Given the description of an element on the screen output the (x, y) to click on. 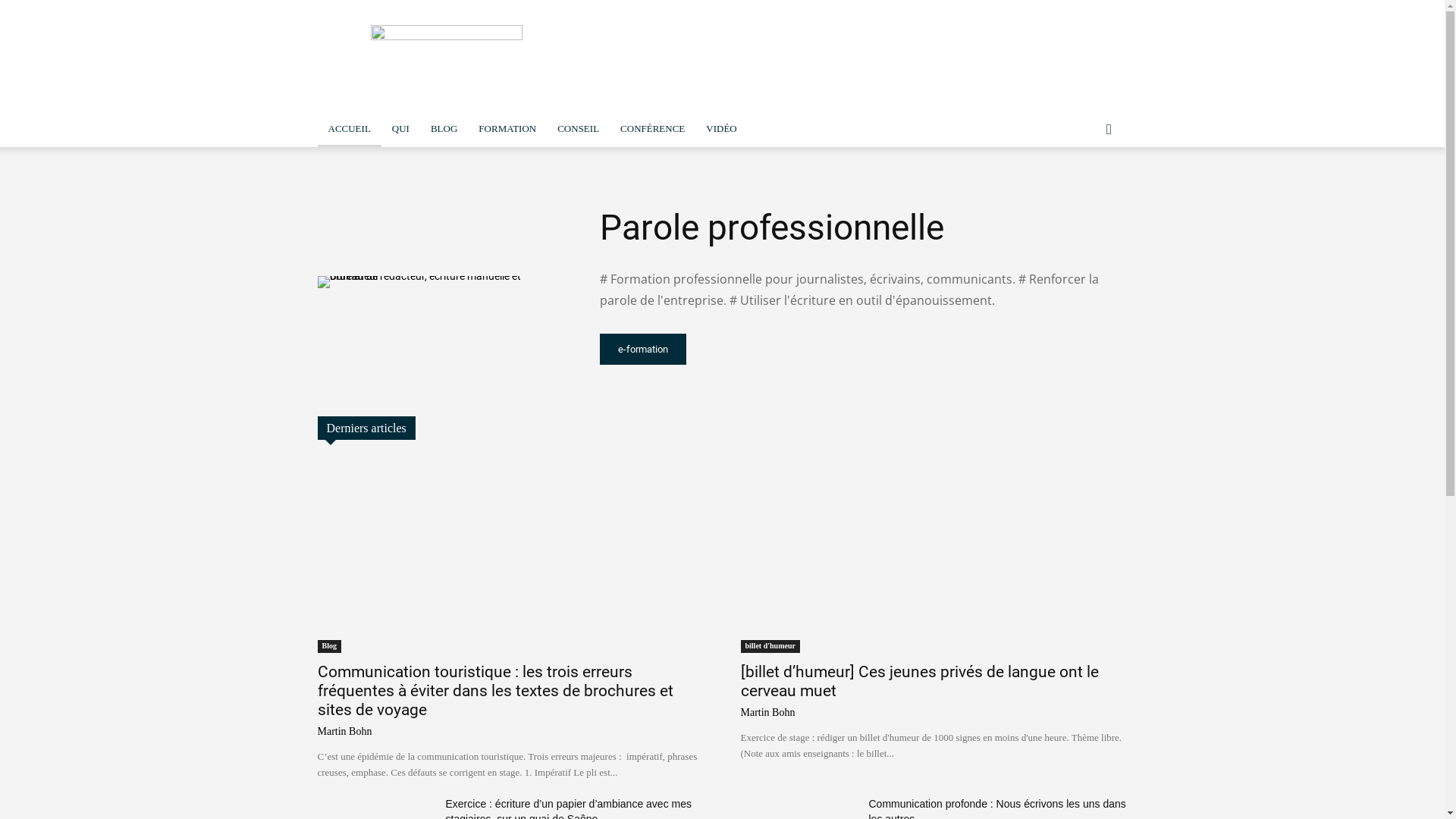
ACCUEIL Element type: text (348, 128)
Martin Bohn Element type: text (343, 731)
Martin Bohn Element type: text (767, 712)
BLOG Element type: text (443, 128)
FORMATION Element type: text (506, 128)
CONSEIL Element type: text (577, 128)
Blog Element type: text (328, 646)
e-formation Element type: text (642, 348)
Recherche Element type: text (1076, 189)
billet d'humeur Element type: text (769, 646)
QUI Element type: text (400, 128)
